Given the description of an element on the screen output the (x, y) to click on. 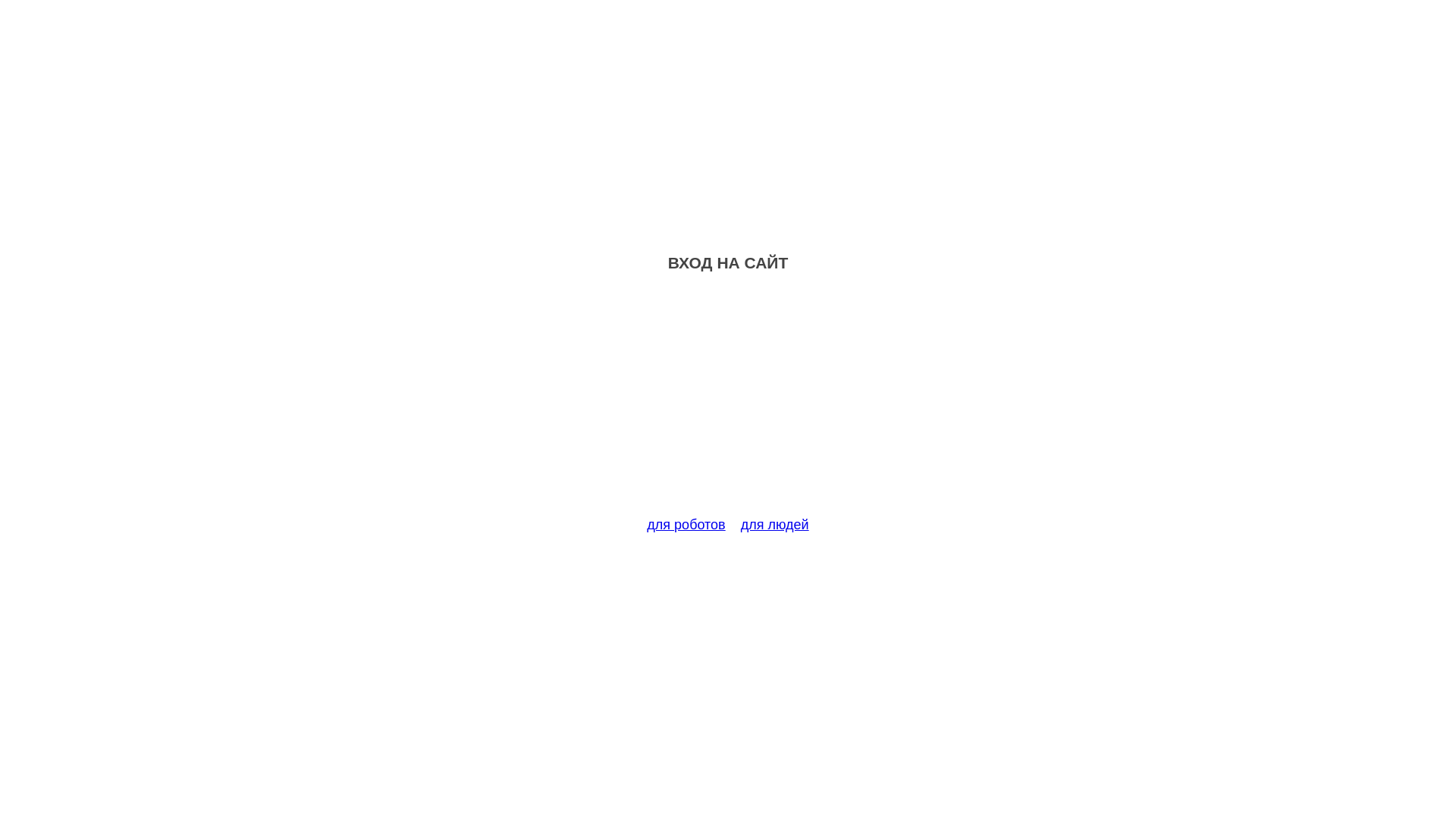
Advertisement Element type: hover (727, 403)
